Given the description of an element on the screen output the (x, y) to click on. 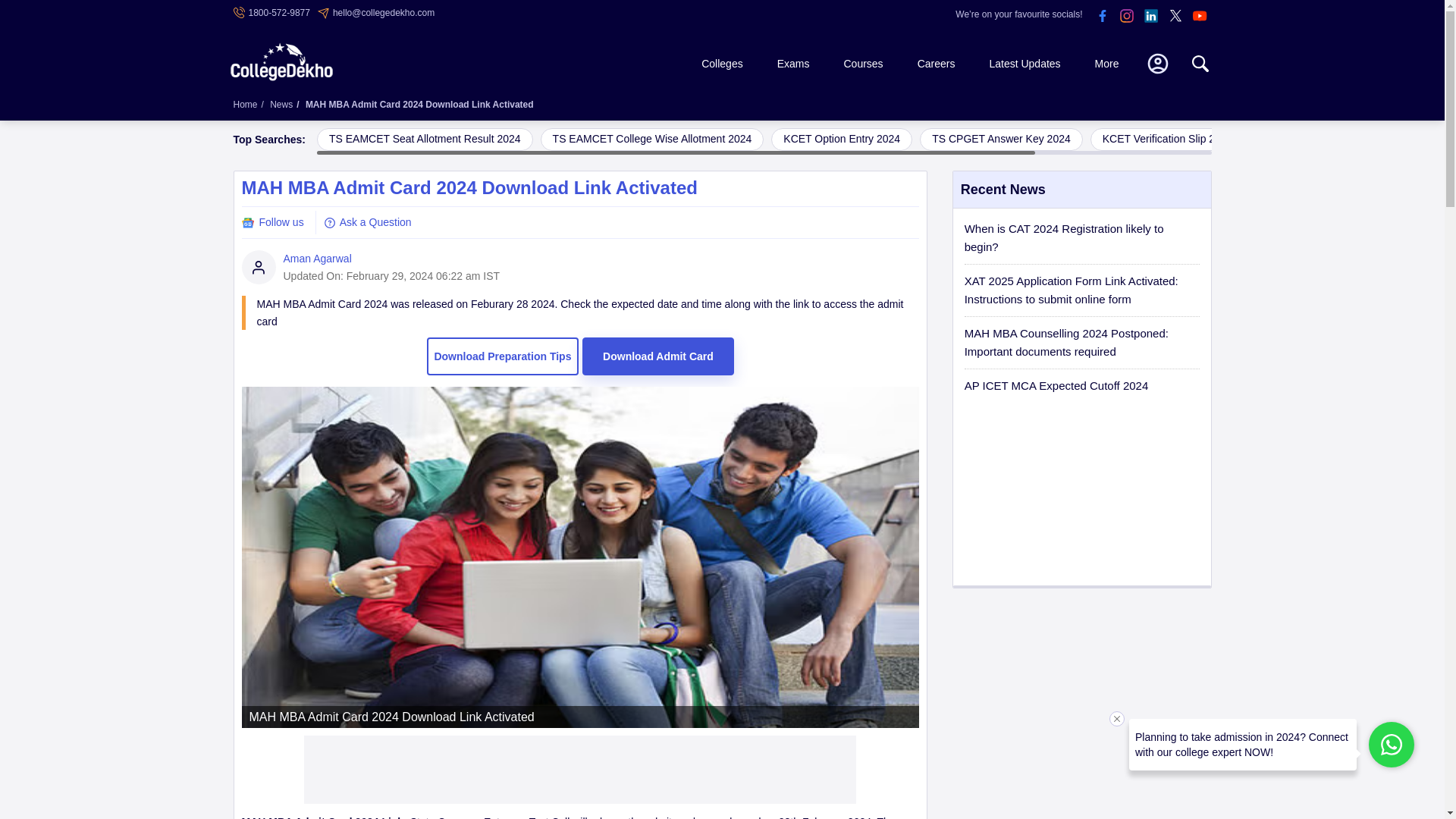
1800-572-9877 (271, 12)
